Given the description of an element on the screen output the (x, y) to click on. 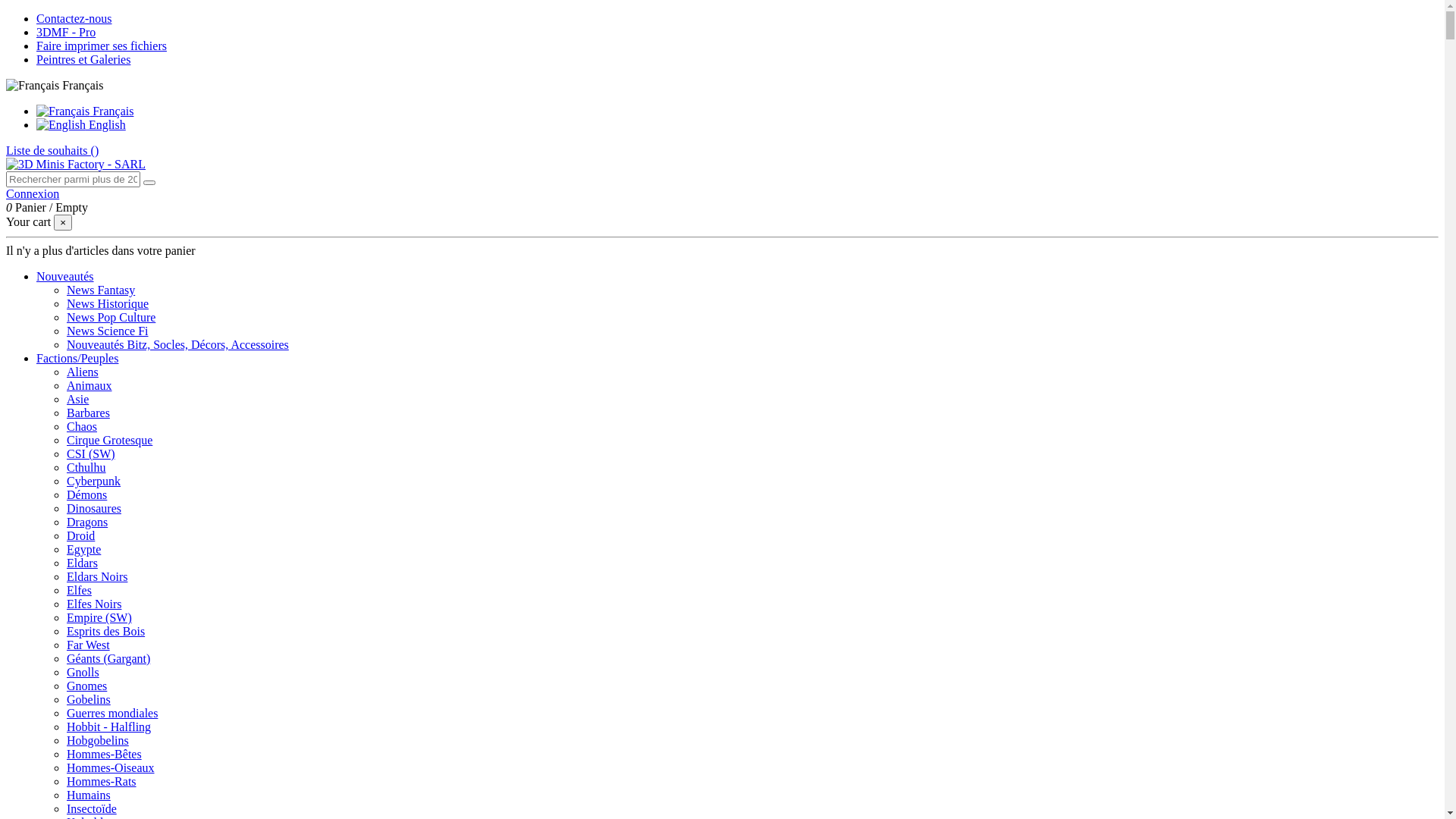
News Historique Element type: text (107, 303)
0 Panier / Empty Element type: text (46, 206)
Humains Element type: text (88, 794)
Hobbit - Halfling Element type: text (108, 726)
Gnomes Element type: text (86, 685)
Empire (SW) Element type: text (98, 617)
Dragons Element type: text (86, 521)
Guerres mondiales Element type: text (111, 712)
Cyberpunk Element type: text (93, 480)
News Science Fi Element type: text (107, 330)
Eldars Element type: text (81, 562)
Aliens Element type: text (82, 371)
Chaos Element type: text (81, 426)
Droid Element type: text (80, 535)
Gobelins Element type: text (88, 699)
Contactez-nous Element type: text (74, 18)
Dinosaures Element type: text (93, 508)
Elfes Noirs Element type: text (93, 603)
Esprits des Bois Element type: text (105, 630)
Eldars Noirs Element type: text (96, 576)
News Fantasy Element type: text (100, 289)
Barbares Element type: text (87, 412)
Faire imprimer ses fichiers Element type: text (101, 45)
Hobgobelins Element type: text (97, 740)
Egypte Element type: text (83, 548)
Peintres et Galeries Element type: text (83, 59)
CSI (SW) Element type: text (90, 453)
Liste de souhaits () Element type: text (52, 150)
Factions/Peuples Element type: text (77, 357)
Elfes Element type: text (78, 589)
3DMF - Pro Element type: text (65, 31)
News Pop Culture Element type: text (110, 316)
Connexion Element type: text (32, 193)
Cirque Grotesque Element type: text (109, 439)
Asie Element type: text (77, 398)
Hommes-Rats Element type: text (101, 781)
Cthulhu Element type: text (86, 467)
Hommes-Oiseaux Element type: text (110, 767)
English Element type: text (80, 124)
Animaux Element type: text (89, 385)
Far West Element type: text (87, 644)
Gnolls Element type: text (82, 671)
